Given the description of an element on the screen output the (x, y) to click on. 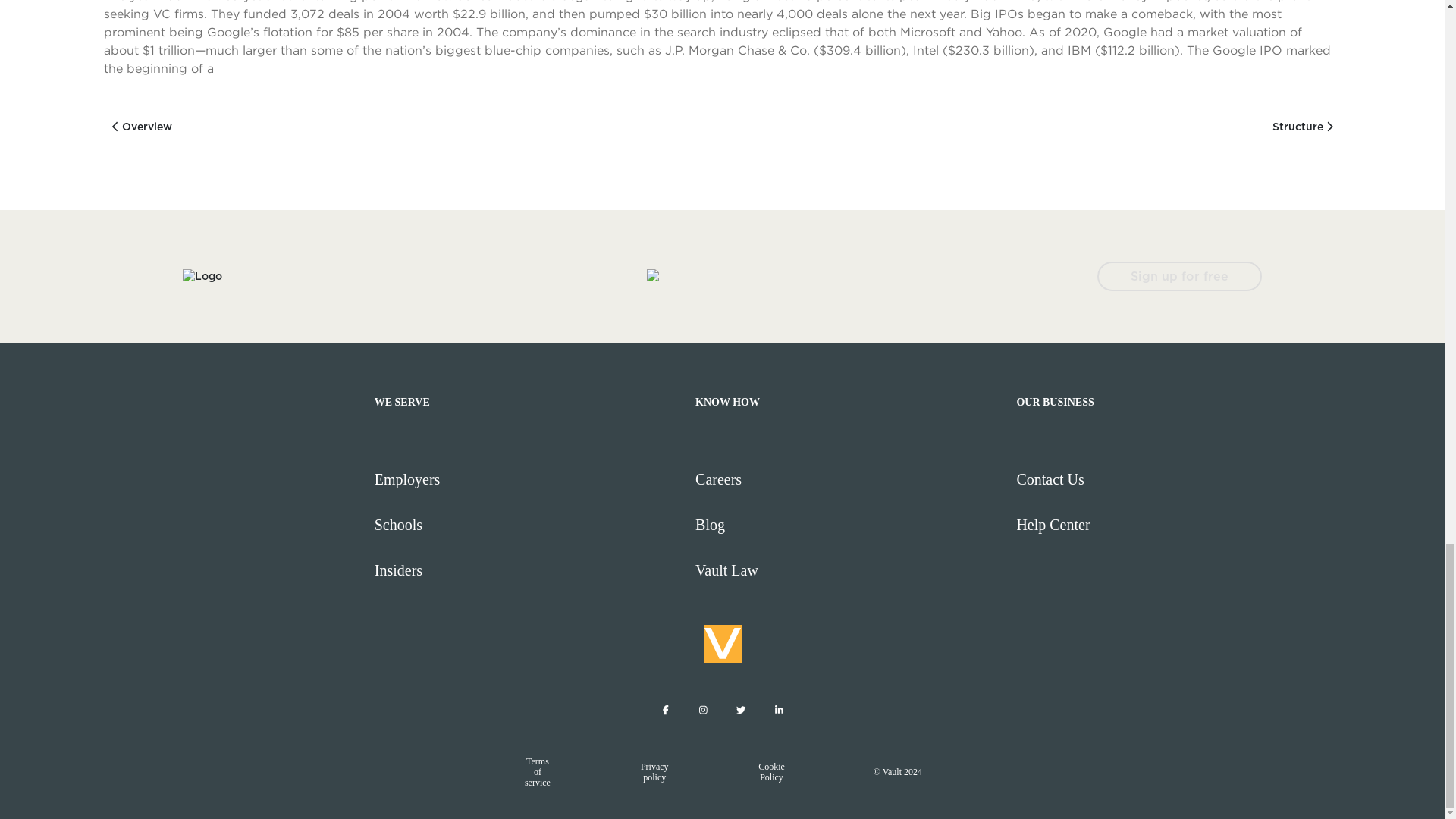
Blog (849, 524)
Careers (849, 478)
Contact Us (1170, 478)
Employers (528, 478)
Help Center (1170, 524)
Structure (1302, 127)
Schools (528, 524)
Vault Law (849, 570)
Overview (141, 127)
Insiders (528, 570)
